Given the description of an element on the screen output the (x, y) to click on. 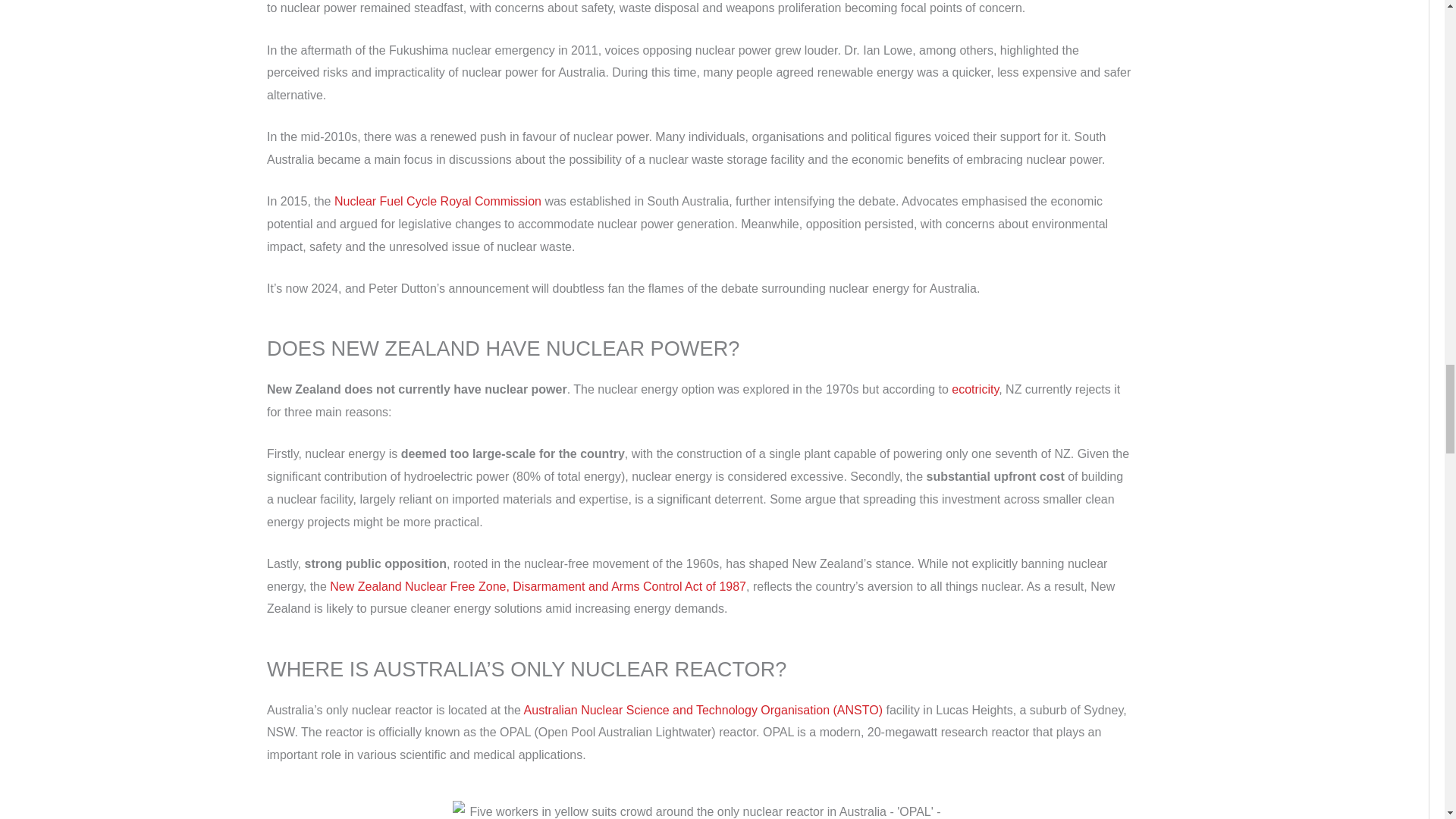
Nuclear Fuel Cycle Royal Commission (437, 201)
ecotricity (975, 389)
